Given the description of an element on the screen output the (x, y) to click on. 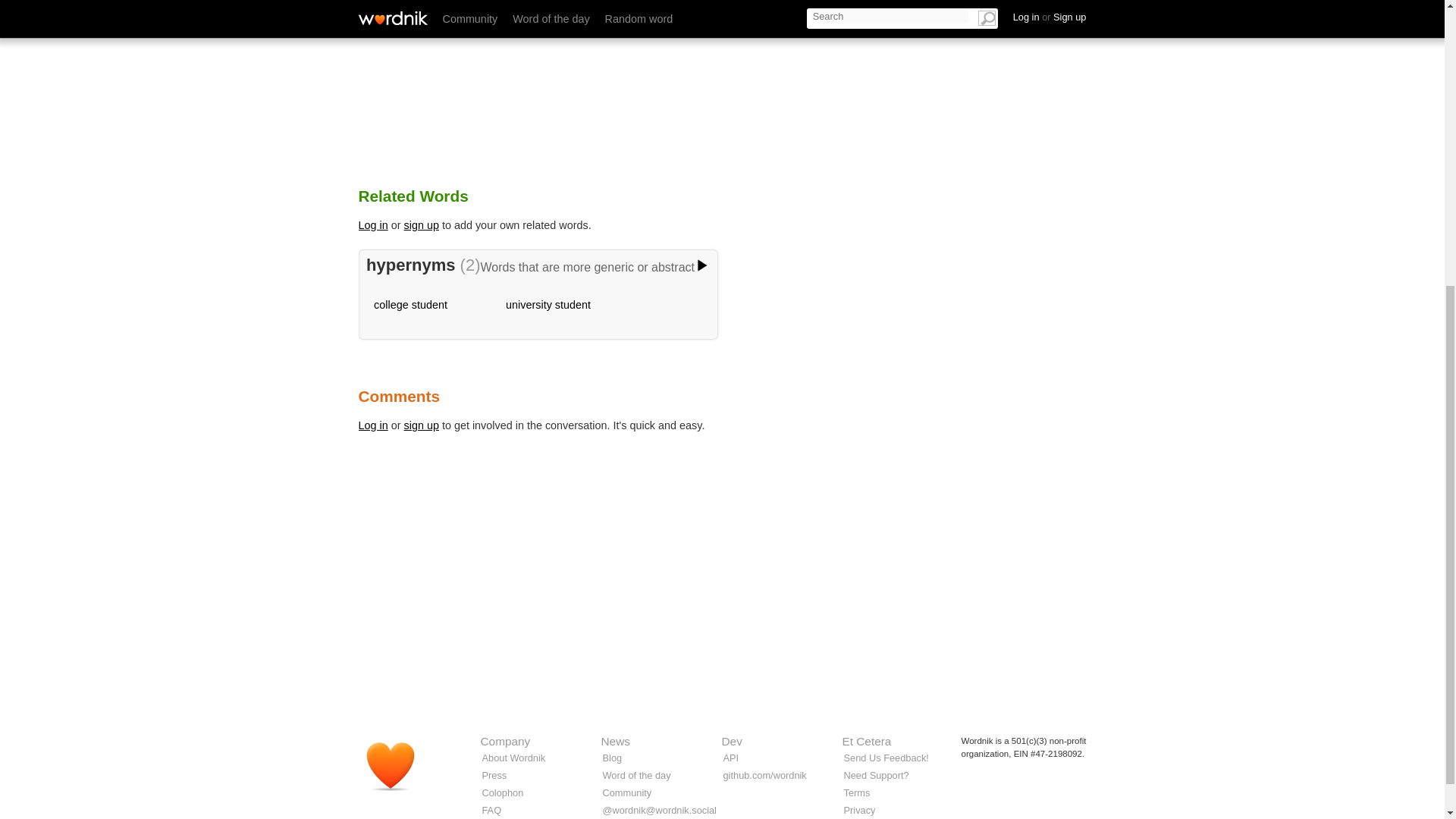
Press (493, 775)
Colophon (502, 792)
Blog (611, 757)
Dev (732, 740)
sign up (421, 425)
Log in (372, 425)
university student (548, 304)
3rd party ad content (721, 643)
Wordnik Online Dictionary (397, 771)
Log in (372, 224)
